Given the description of an element on the screen output the (x, y) to click on. 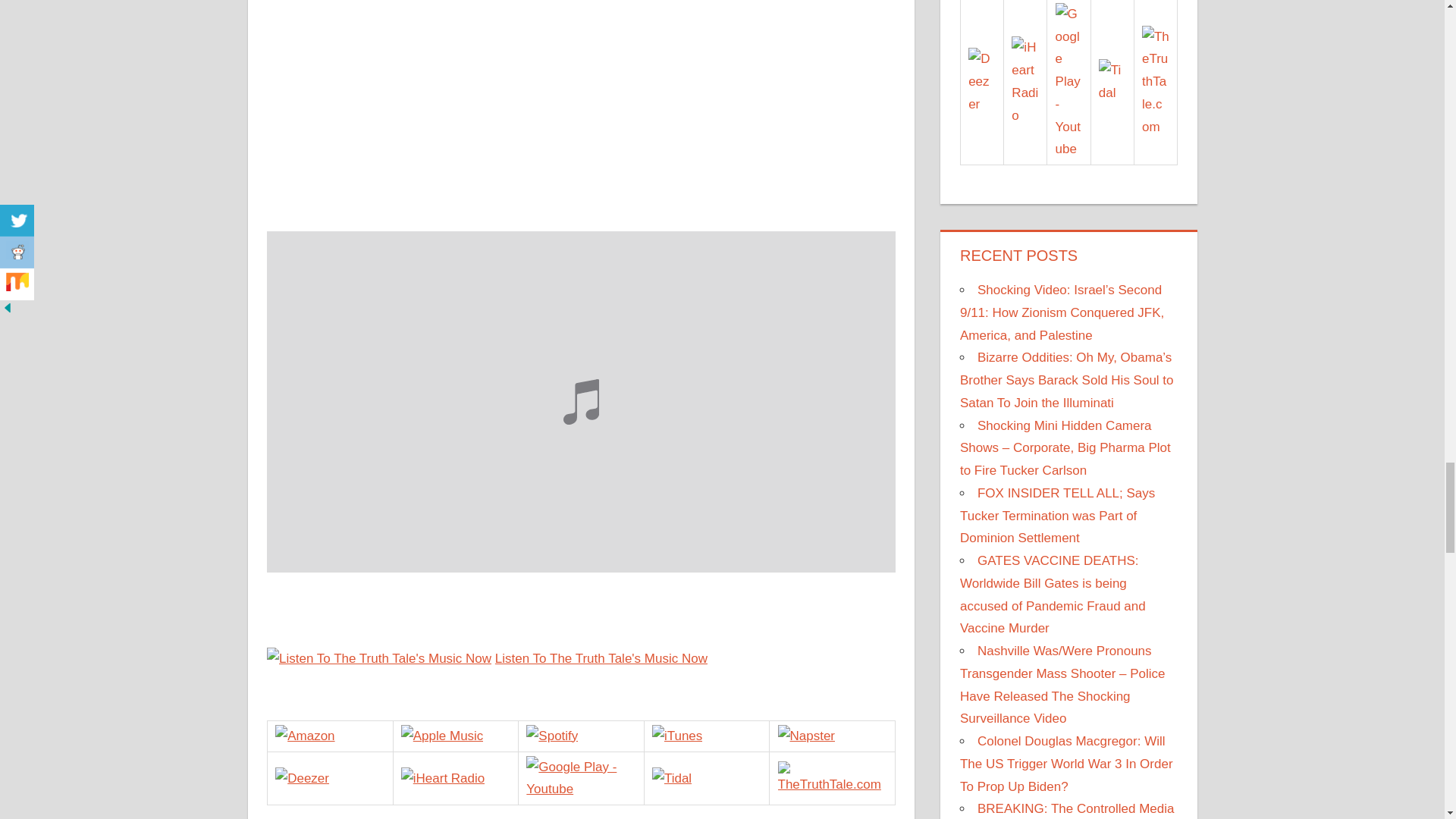
Listen To The Truth Tale's Music Now (601, 658)
